Given the description of an element on the screen output the (x, y) to click on. 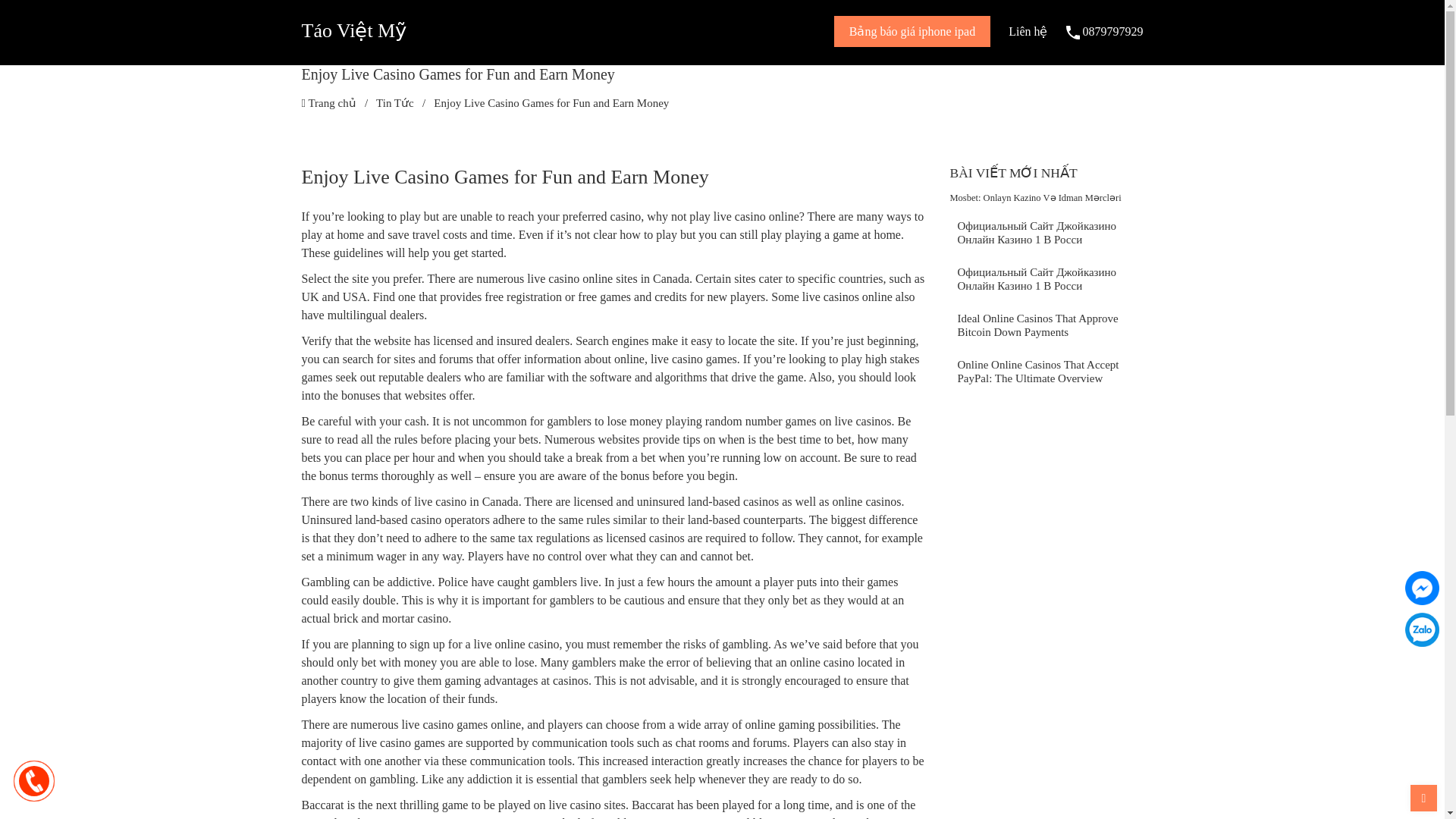
Zalo (1421, 629)
Ideal Online Casinos That Approve Bitcoin Down Payments (1045, 327)
Facebook (1421, 587)
blaze apostas online (801, 817)
